Given the description of an element on the screen output the (x, y) to click on. 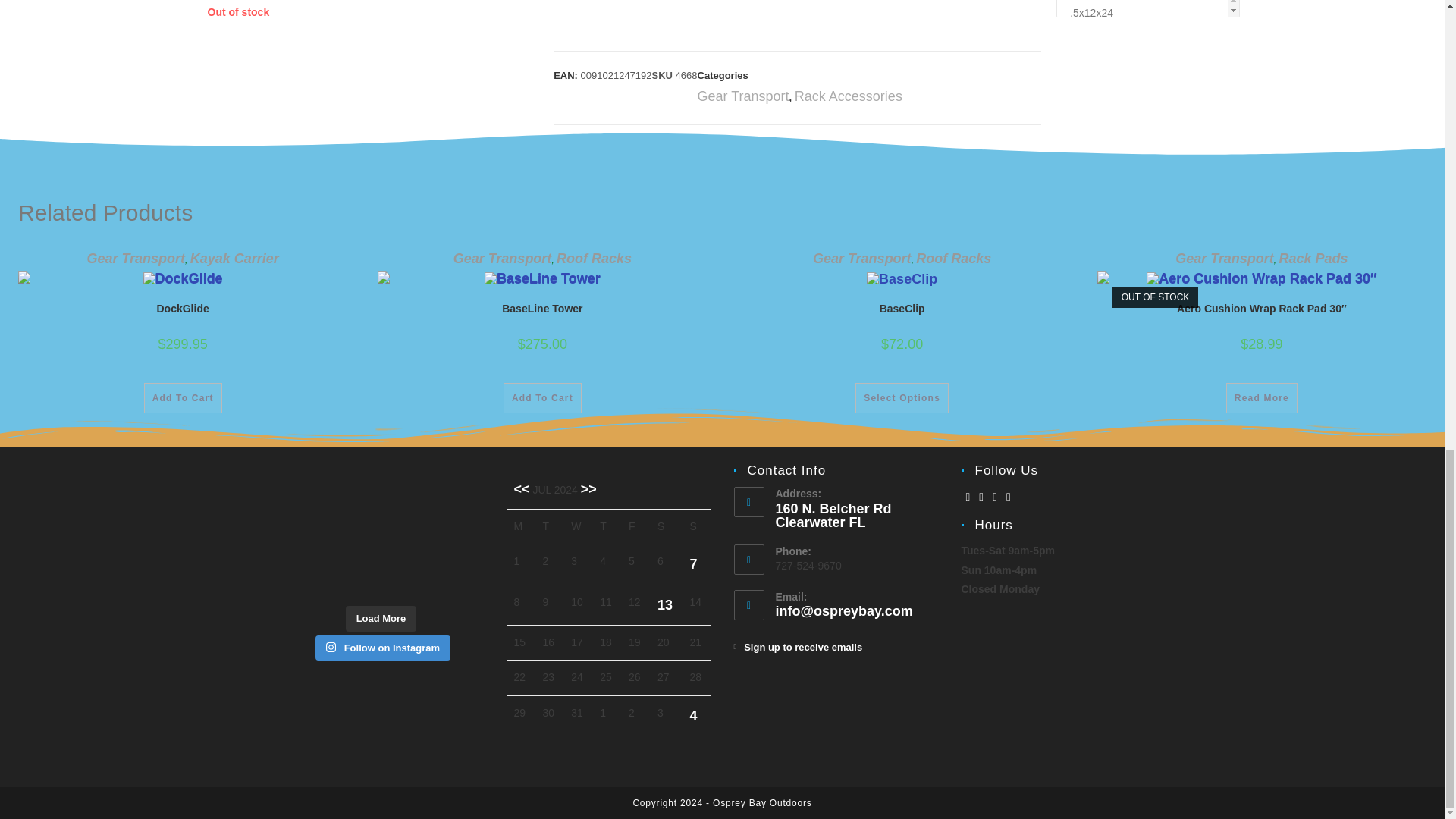
Demo Day July 13, 2024 (665, 604)
